Given the description of an element on the screen output the (x, y) to click on. 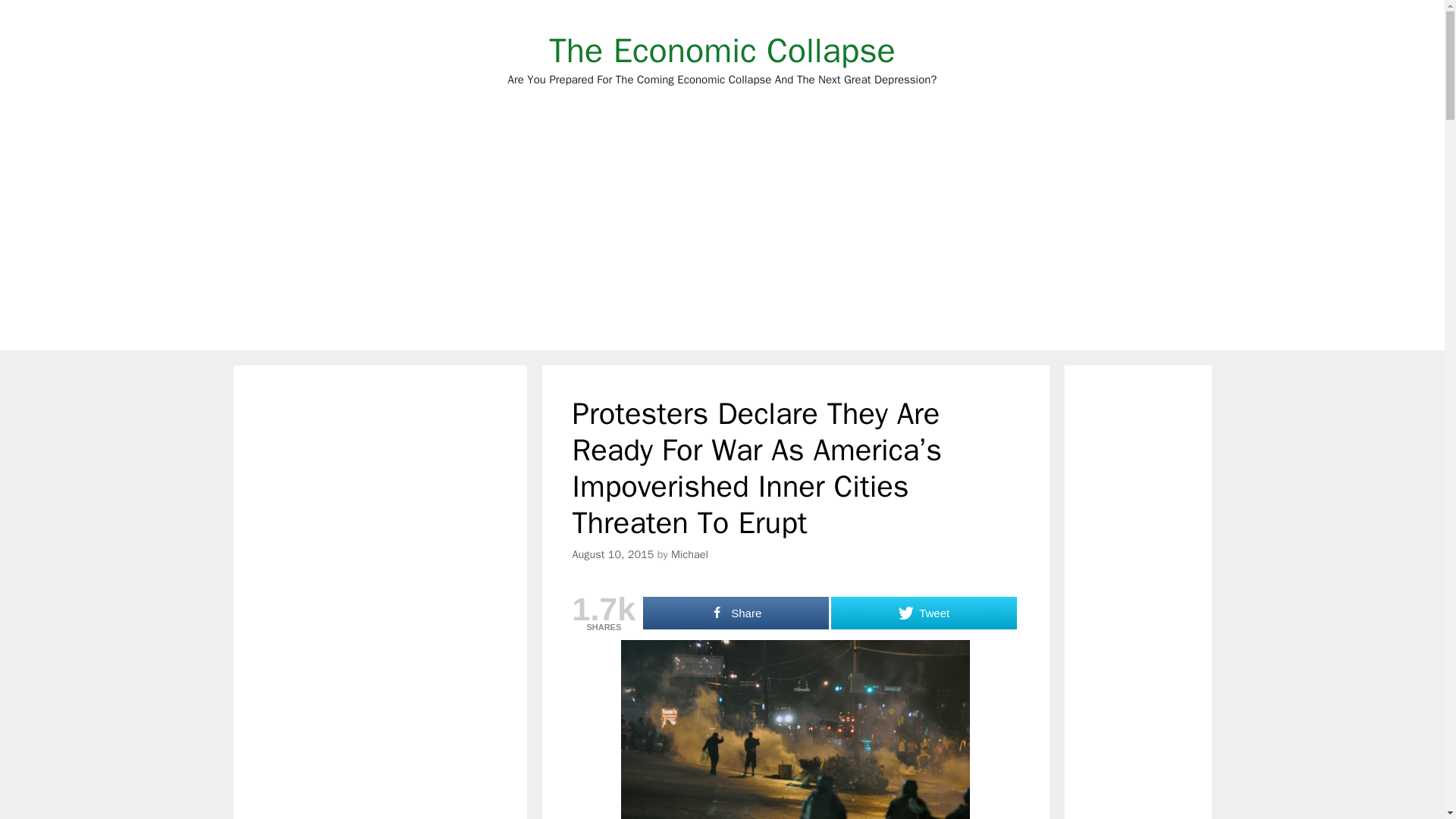
View all posts by Michael (689, 554)
Tweet (923, 613)
Share (735, 613)
August 10, 2015 (612, 554)
Skip to content (721, 50)
Tweet (689, 554)
Share (923, 613)
